Given the description of an element on the screen output the (x, y) to click on. 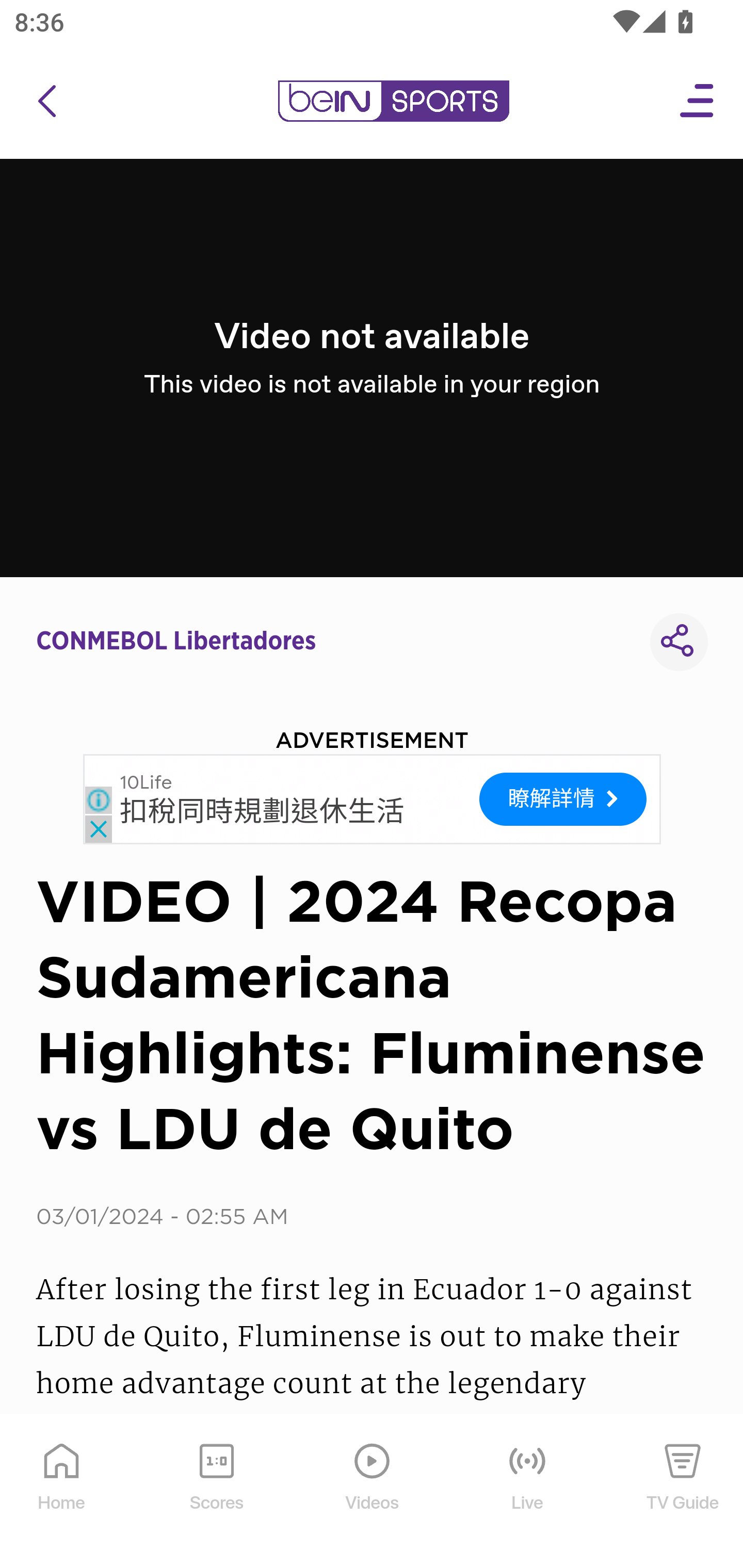
en-us?platform=mobile_android bein logo (392, 101)
icon back (46, 101)
Open Menu Icon (697, 101)
10Life (145, 782)
瞭解詳情 (562, 799)
扣稅同時規劃退休生活 (262, 811)
Home Home Icon Home (61, 1491)
Scores Scores Icon Scores (216, 1491)
Videos Videos Icon Videos (372, 1491)
TV Guide TV Guide Icon TV Guide (682, 1491)
